Given the description of an element on the screen output the (x, y) to click on. 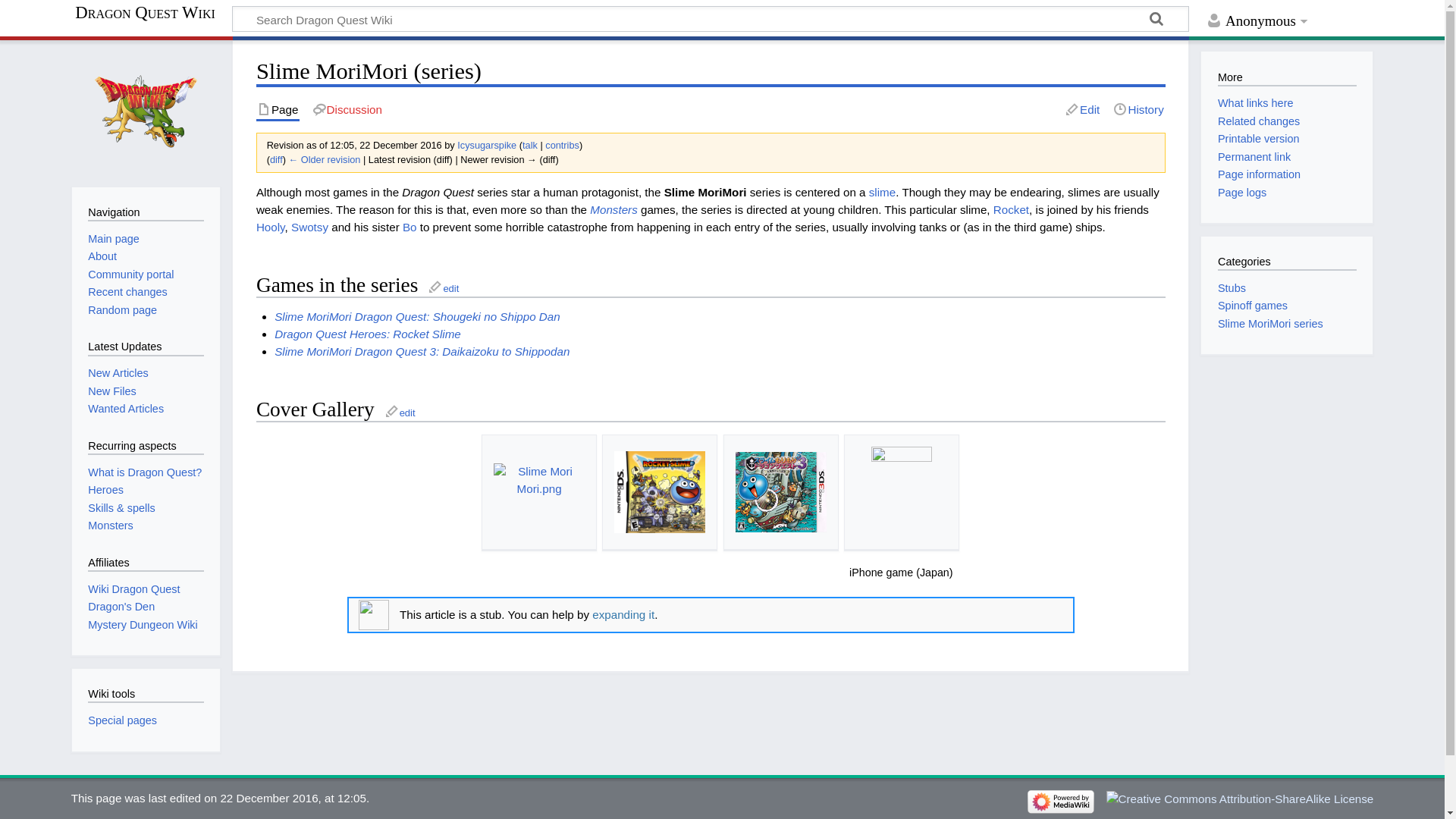
History (1138, 109)
Monsters (613, 209)
diff (275, 159)
Rocket (1010, 209)
edit (443, 286)
Hooly (270, 226)
User:Icysugarspike (486, 144)
Bo (409, 226)
Page (277, 109)
Icysugarspike (486, 144)
